Given the description of an element on the screen output the (x, y) to click on. 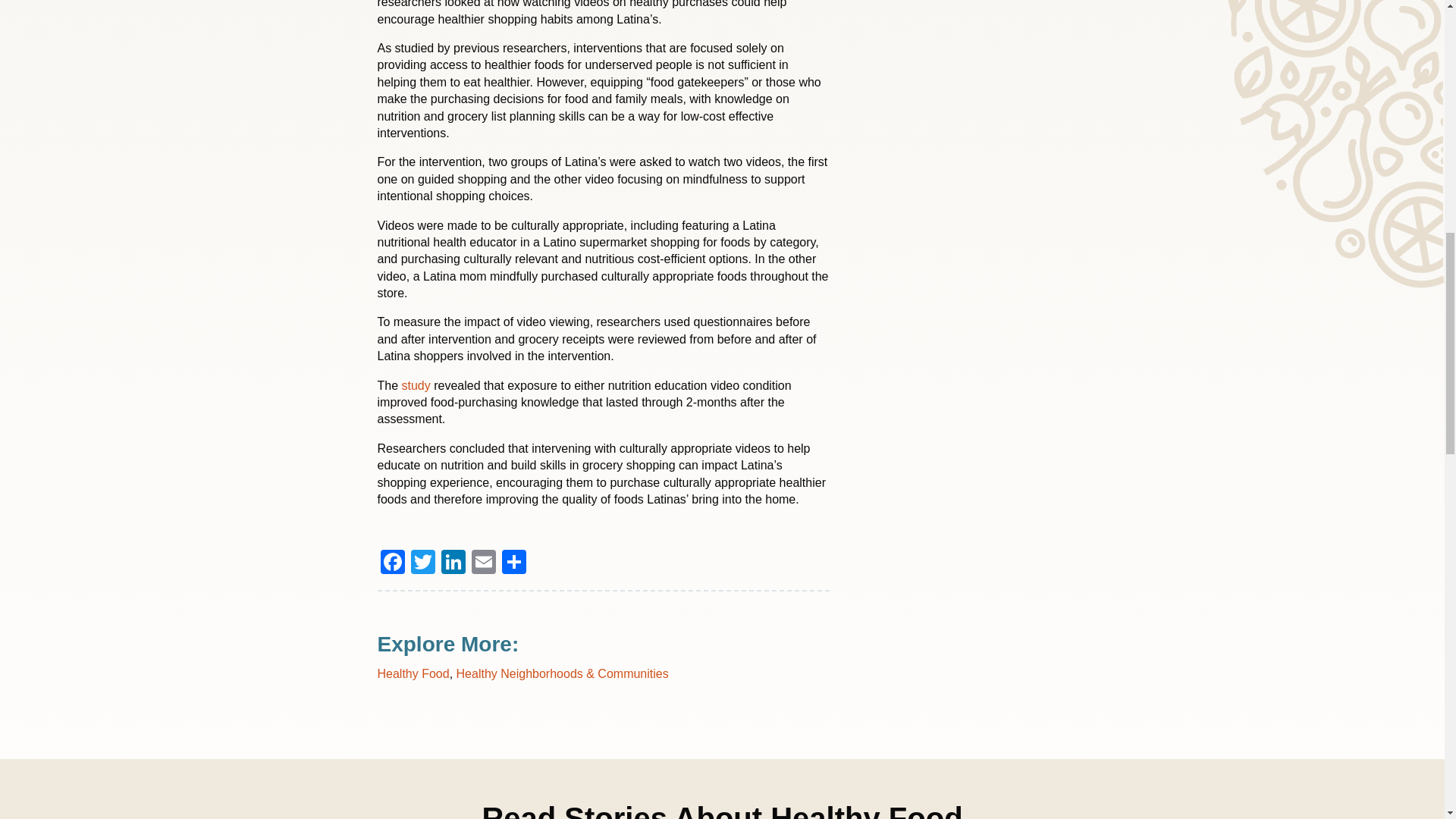
Facebook (392, 563)
Email (483, 563)
Twitter (422, 563)
Twitter (422, 563)
Healthy Food (413, 673)
LinkedIn (453, 563)
LinkedIn (453, 563)
Email (483, 563)
Facebook (392, 563)
study (415, 385)
